Given the description of an element on the screen output the (x, y) to click on. 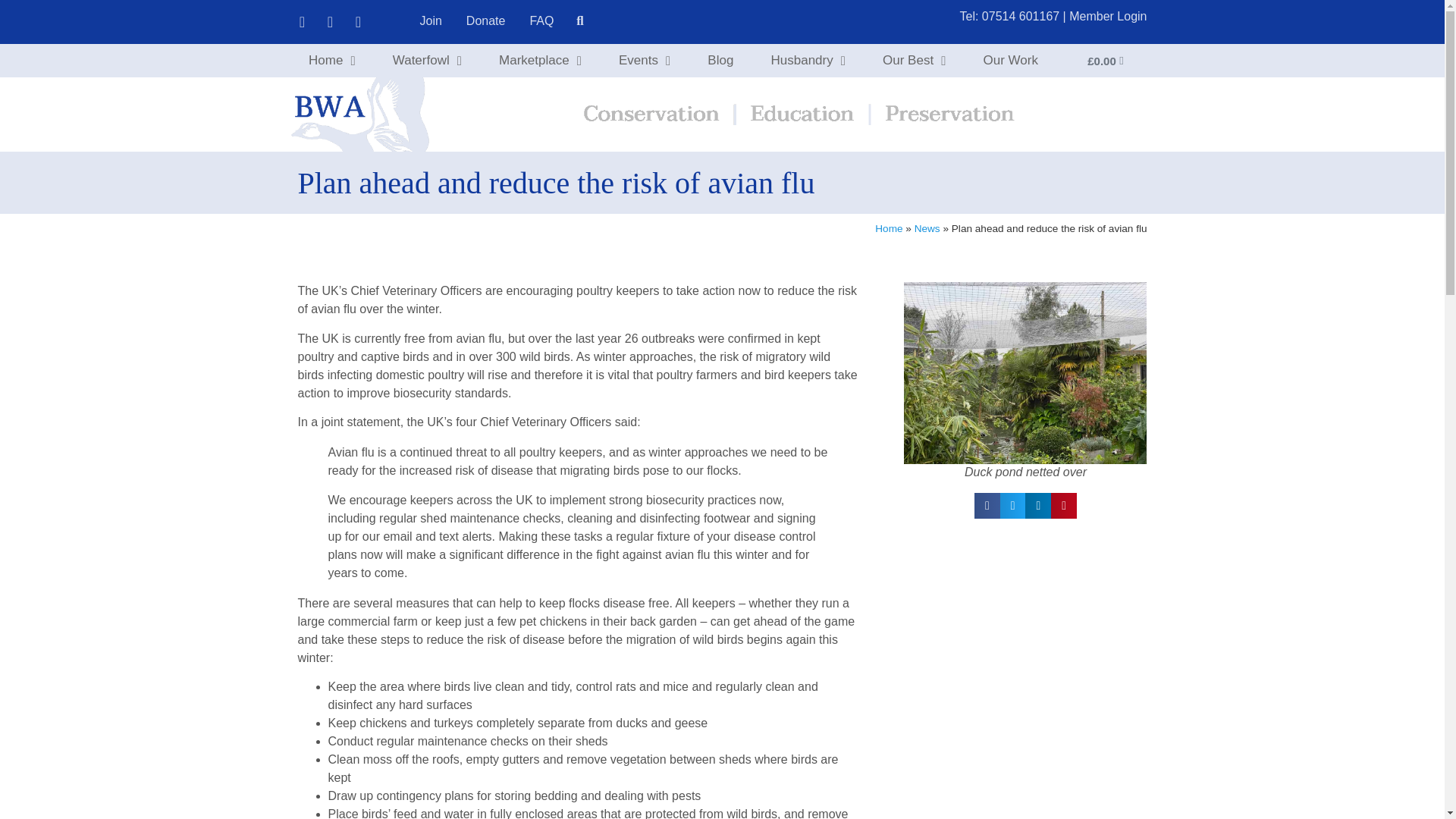
Donate (485, 20)
Join (431, 20)
Join the BWA (431, 20)
FAQ (541, 20)
Member Login (1107, 15)
Member Login (1107, 15)
Donate to the BWA via PayPal (485, 20)
